Given the description of an element on the screen output the (x, y) to click on. 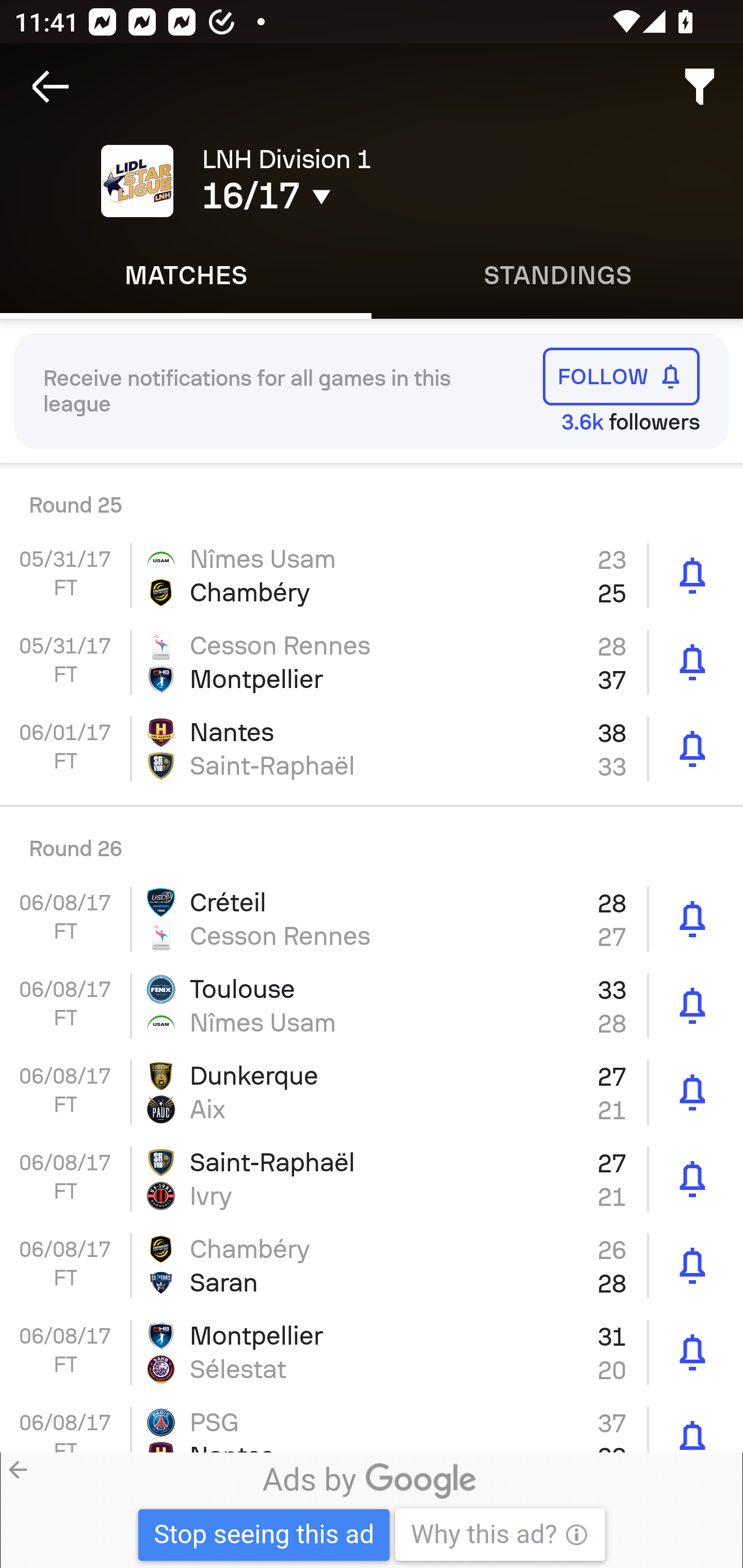
Navigate up (50, 86)
Find (699, 86)
16/17 (350, 195)
Standings STANDINGS (557, 275)
FOLLOW (621, 377)
05/31/17 FT Saran 23 Dunkerque 37 (371, 496)
05/31/17 FT Nîmes Usam 23 Chambéry 25 (371, 575)
05/31/17 FT Cesson Rennes 28 Montpellier 37 (371, 662)
06/01/17 FT Nantes 38 Saint-Raphaël 33 (371, 748)
Round 26 (371, 840)
06/08/17 FT Créteil 28 Cesson Rennes 27 (371, 919)
06/08/17 FT Toulouse 33 Nîmes Usam 28 (371, 1005)
06/08/17 FT Dunkerque 27 Aix 21 (371, 1091)
06/08/17 FT Saint-Raphaël 27 Ivry 21 (371, 1179)
06/08/17 FT Chambéry 26 Saran 28 (371, 1266)
06/08/17 FT Montpellier 31 Sélestat 20 (371, 1352)
